Given the description of an element on the screen output the (x, y) to click on. 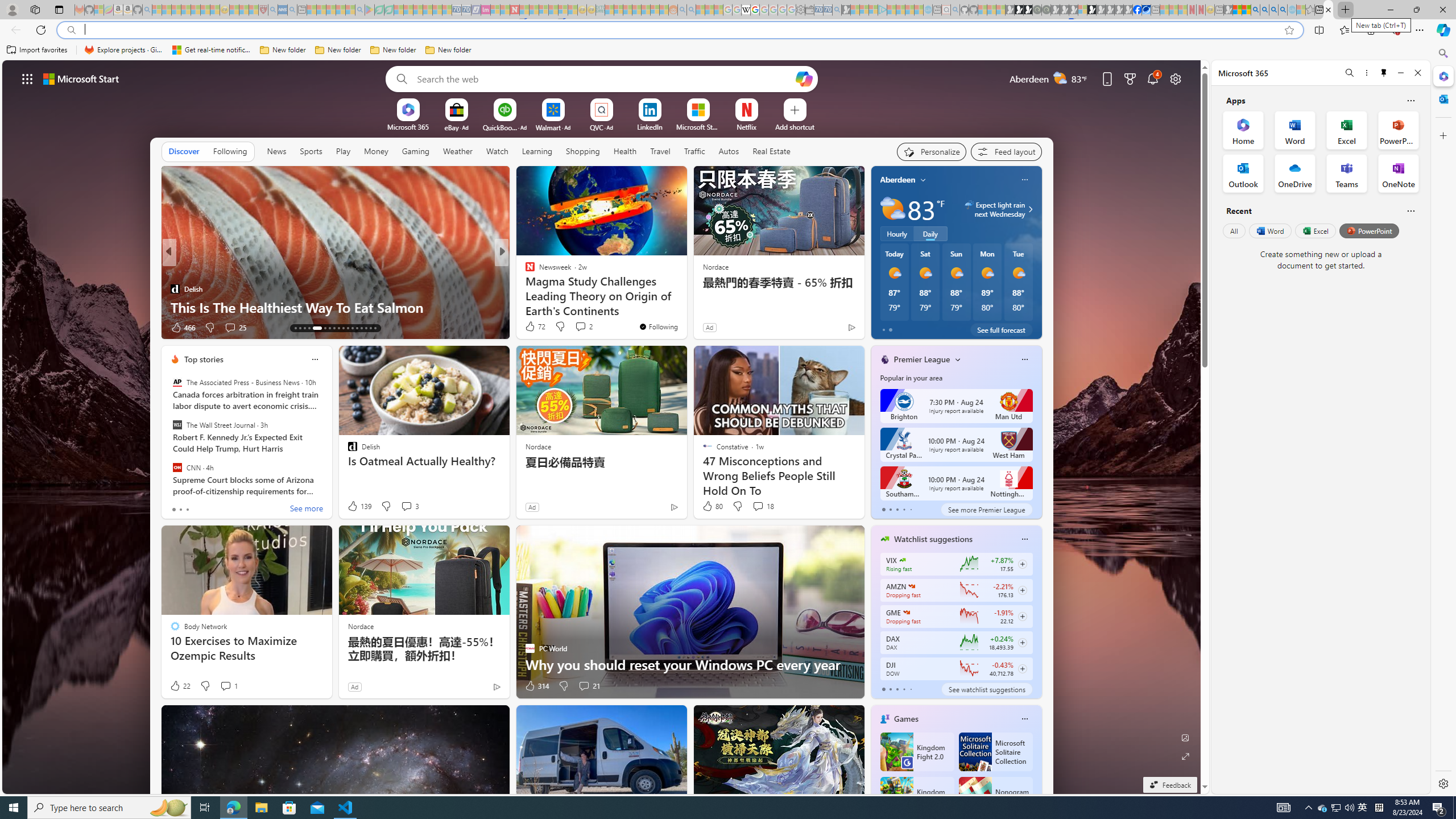
See full forecast (1000, 329)
NCL Adult Asthma Inhaler Choice Guideline - Sleeping (282, 9)
Is this helpful? (1410, 210)
New tab - Sleeping (1218, 9)
Ad Choice (496, 686)
App bar (728, 29)
Side bar (1443, 418)
Personalize your feed" (931, 151)
Microsoft rewards (1129, 78)
News (277, 151)
3 Keys to Managing Search Engine Results for Your Name (684, 298)
